Given the description of an element on the screen output the (x, y) to click on. 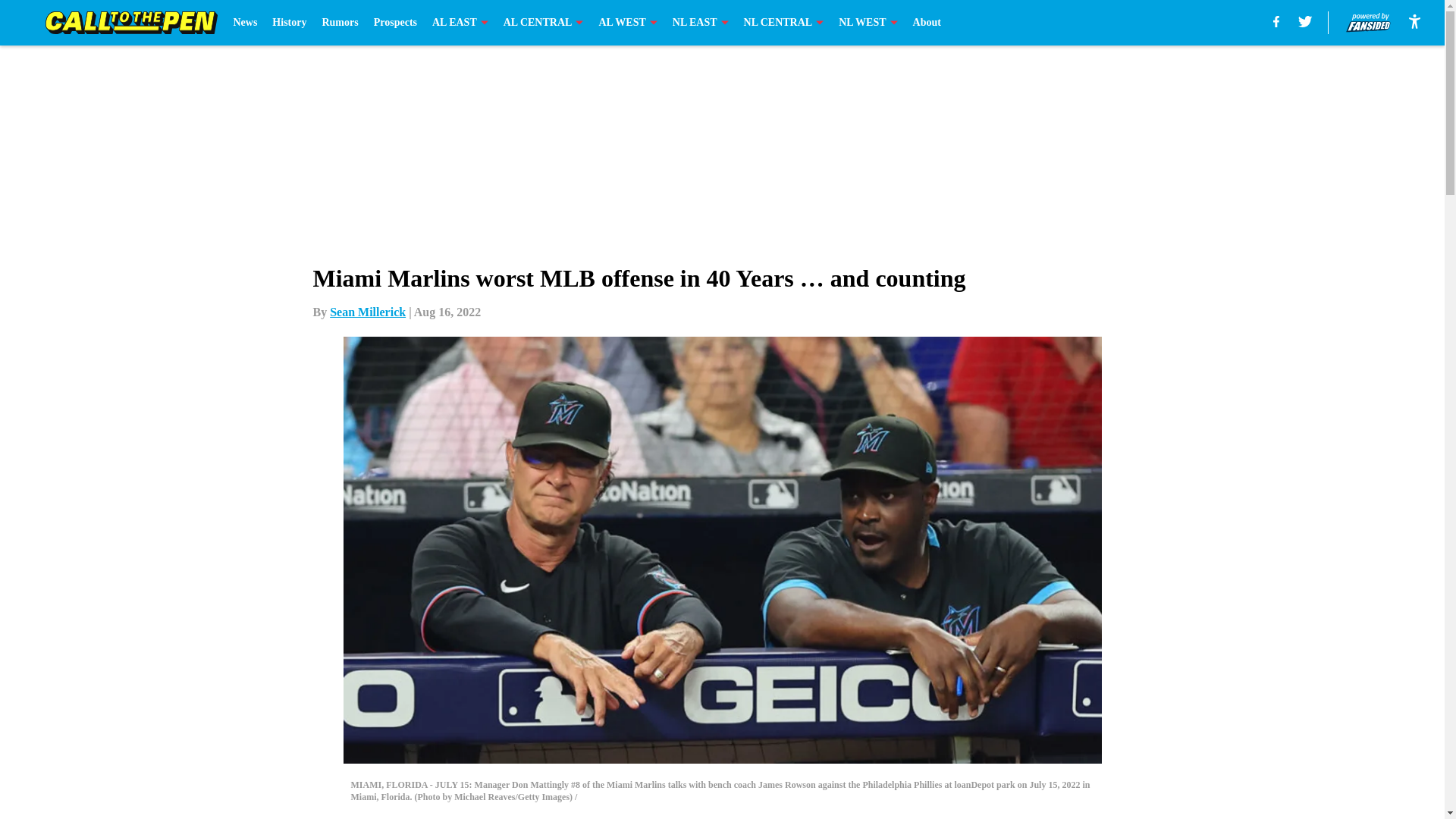
News (244, 22)
Prospects (395, 22)
History (288, 22)
Rumors (339, 22)
